Given the description of an element on the screen output the (x, y) to click on. 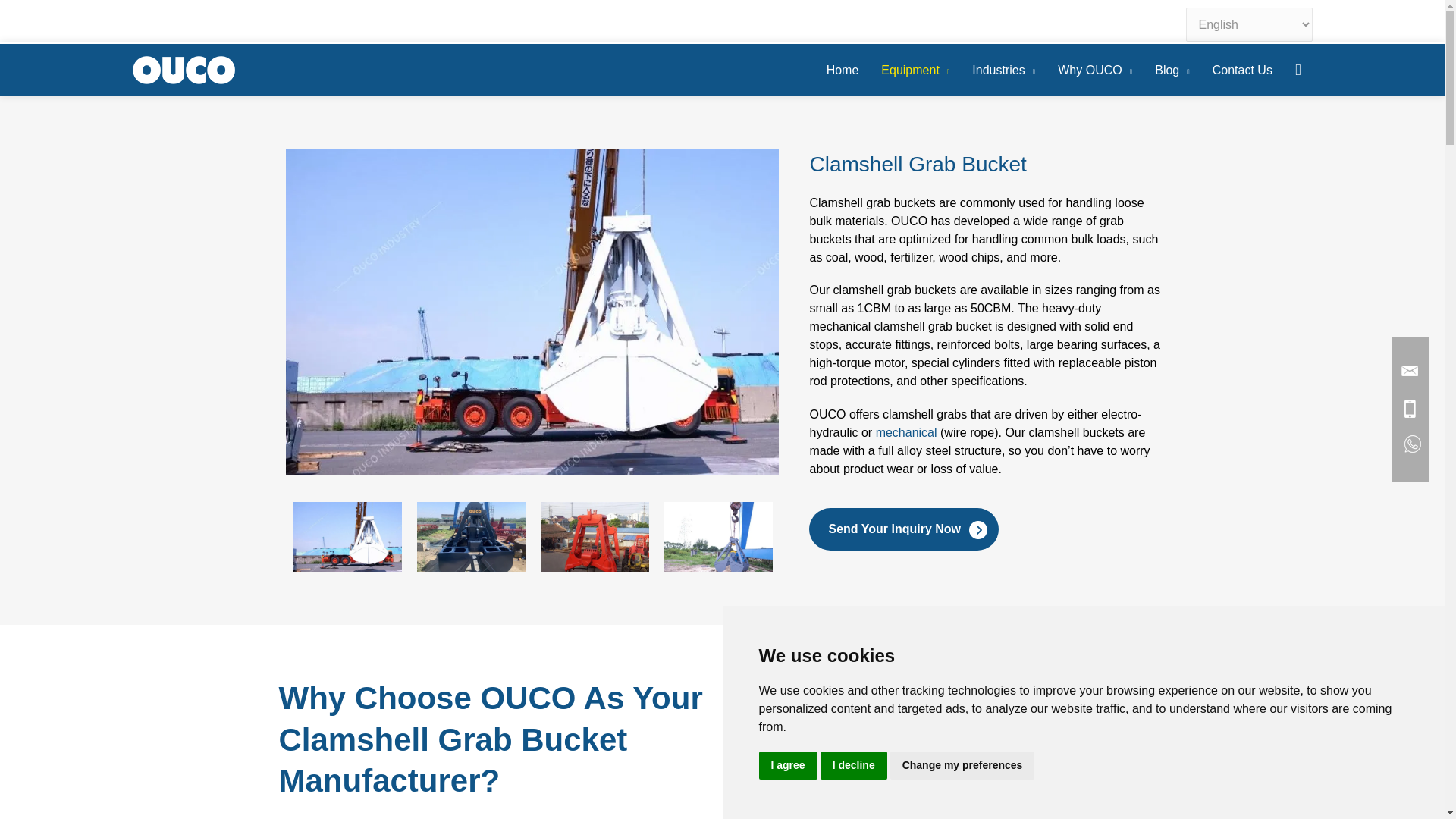
I decline (853, 765)
Home (842, 70)
Change my preferences (962, 765)
I agree (787, 765)
Equipment (914, 70)
